Given the description of an element on the screen output the (x, y) to click on. 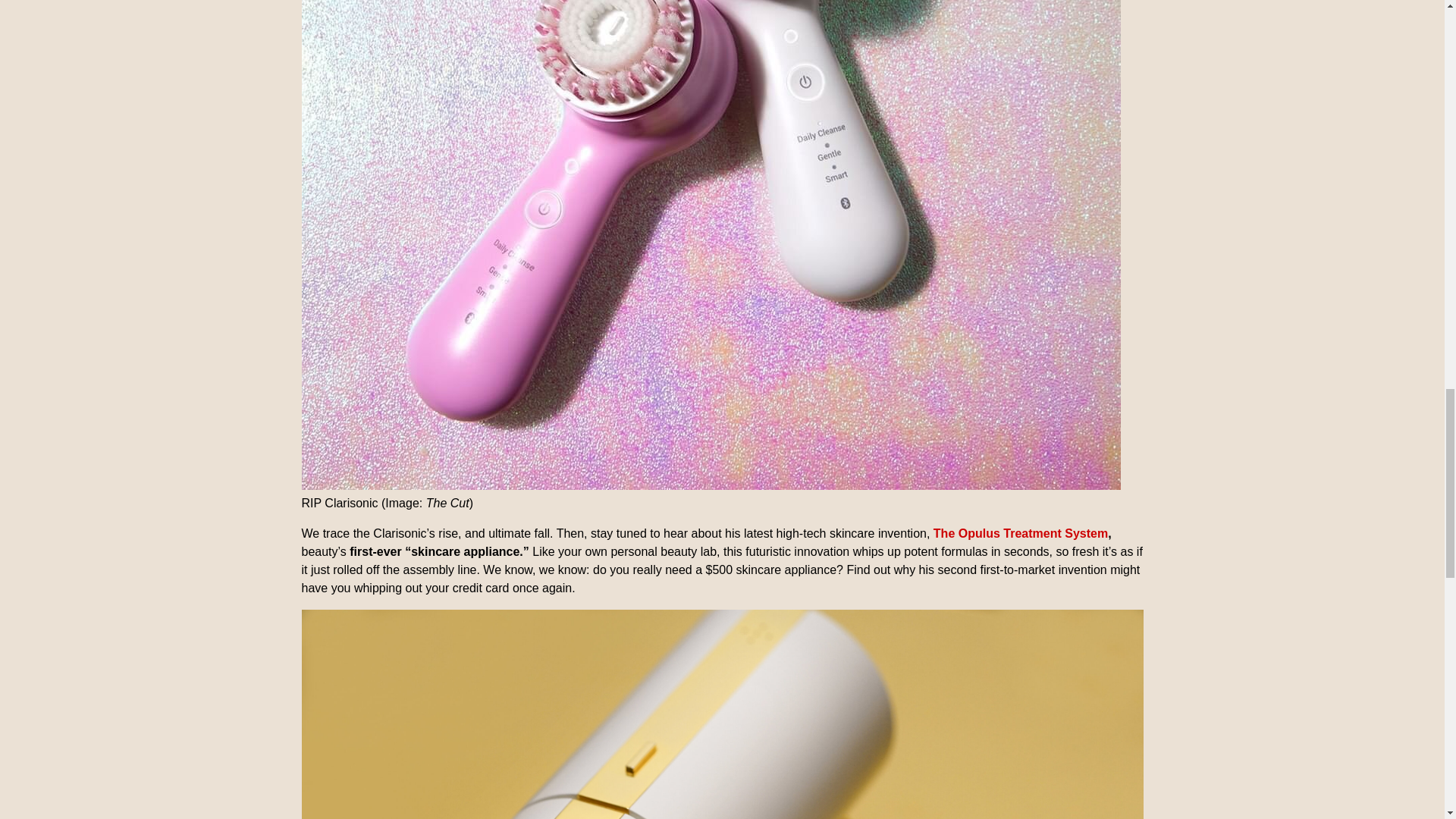
The Opulus Treatment System (1020, 533)
